Given the description of an element on the screen output the (x, y) to click on. 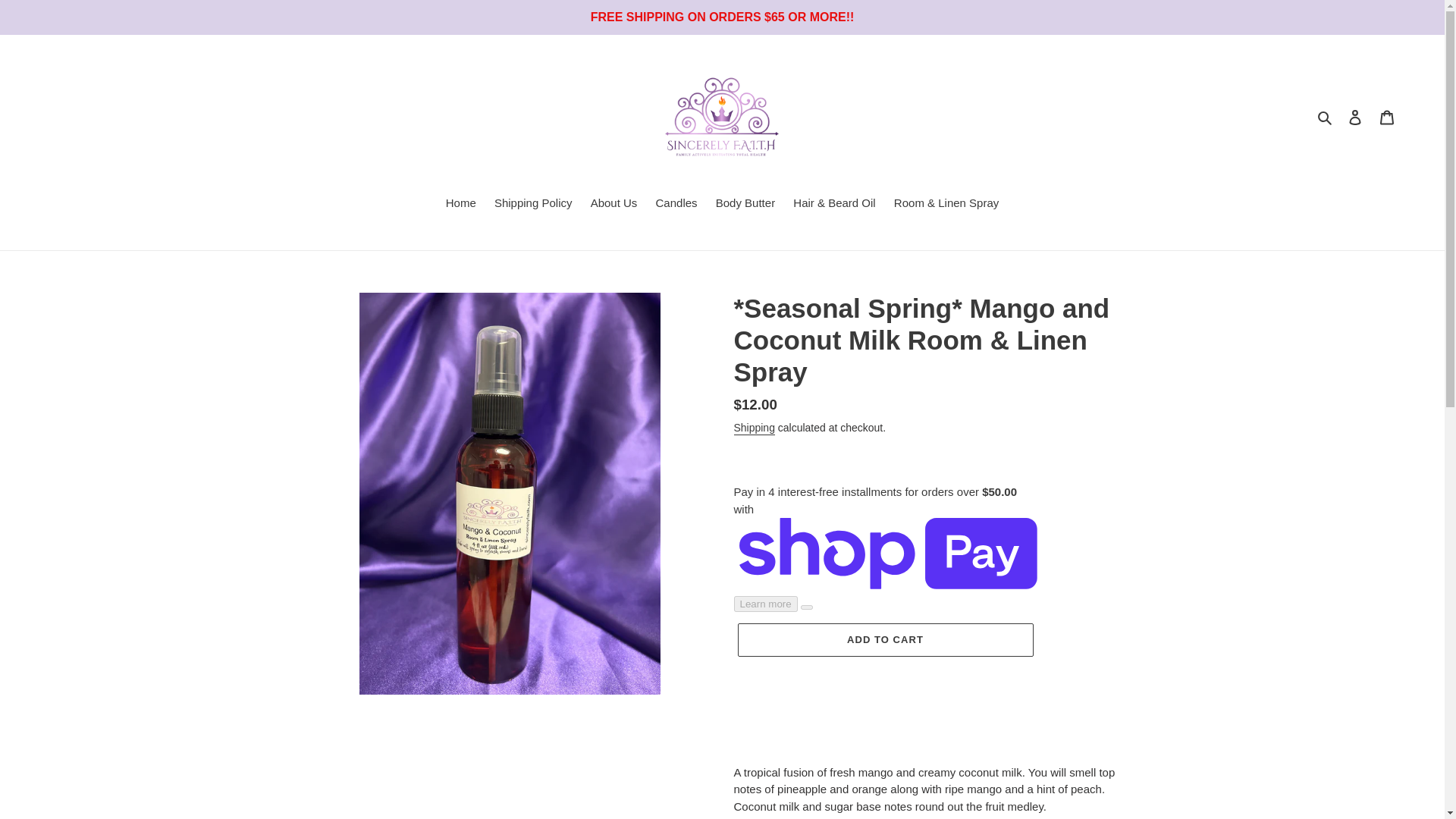
ADD TO CART (884, 639)
Cart (1387, 116)
About Us (614, 204)
Home (460, 204)
Candles (675, 204)
Body Butter (745, 204)
Shipping Policy (532, 204)
Shipping (753, 427)
Search (1326, 116)
Log in (1355, 116)
